Given the description of an element on the screen output the (x, y) to click on. 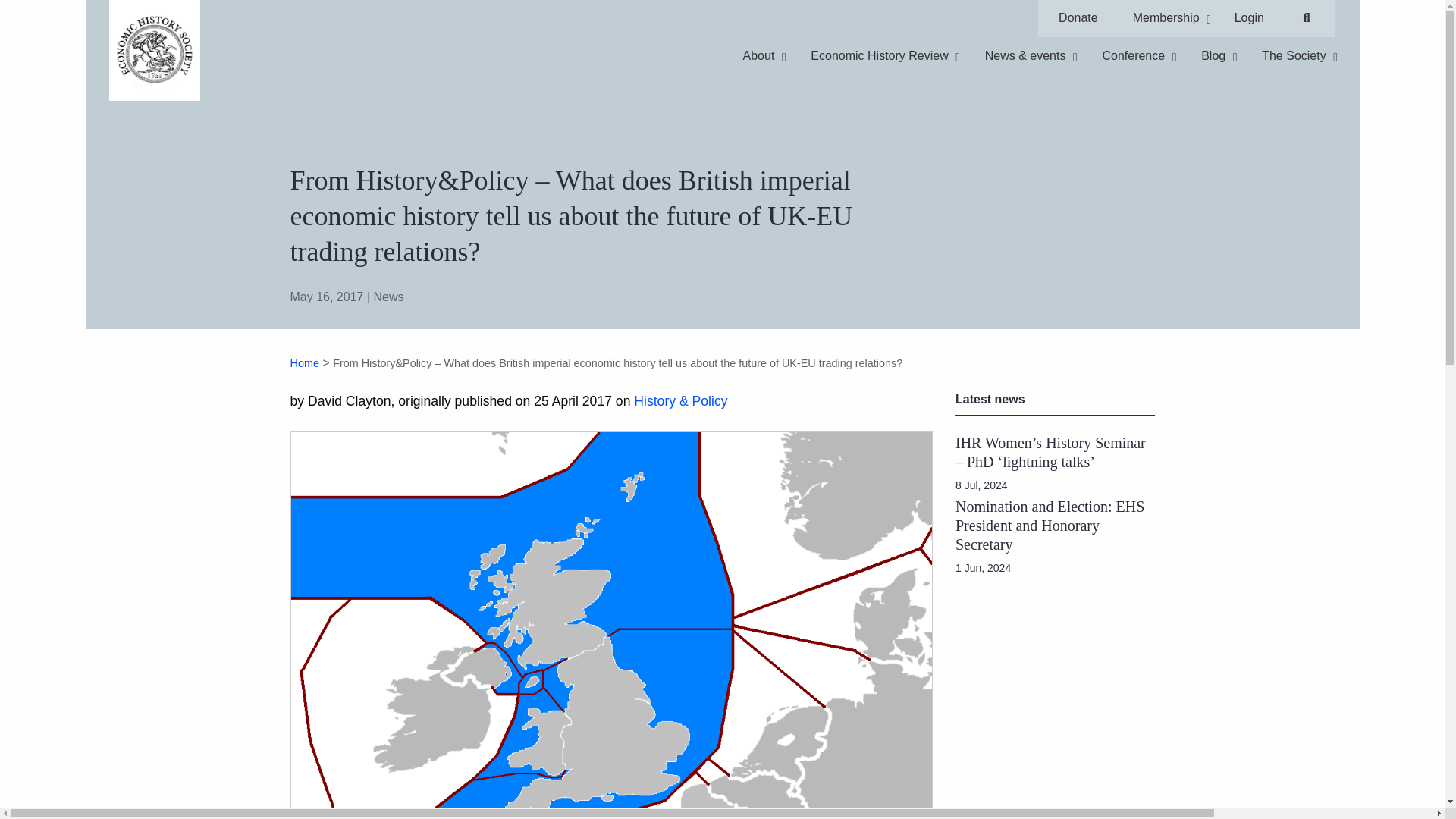
Login (1249, 18)
Membership (1166, 18)
Conference (1133, 56)
About (758, 56)
Economic History Review (826, 18)
Blog (879, 56)
Go to Economic History Society. (1213, 56)
Donate (303, 363)
The Society (1077, 18)
